Given the description of an element on the screen output the (x, y) to click on. 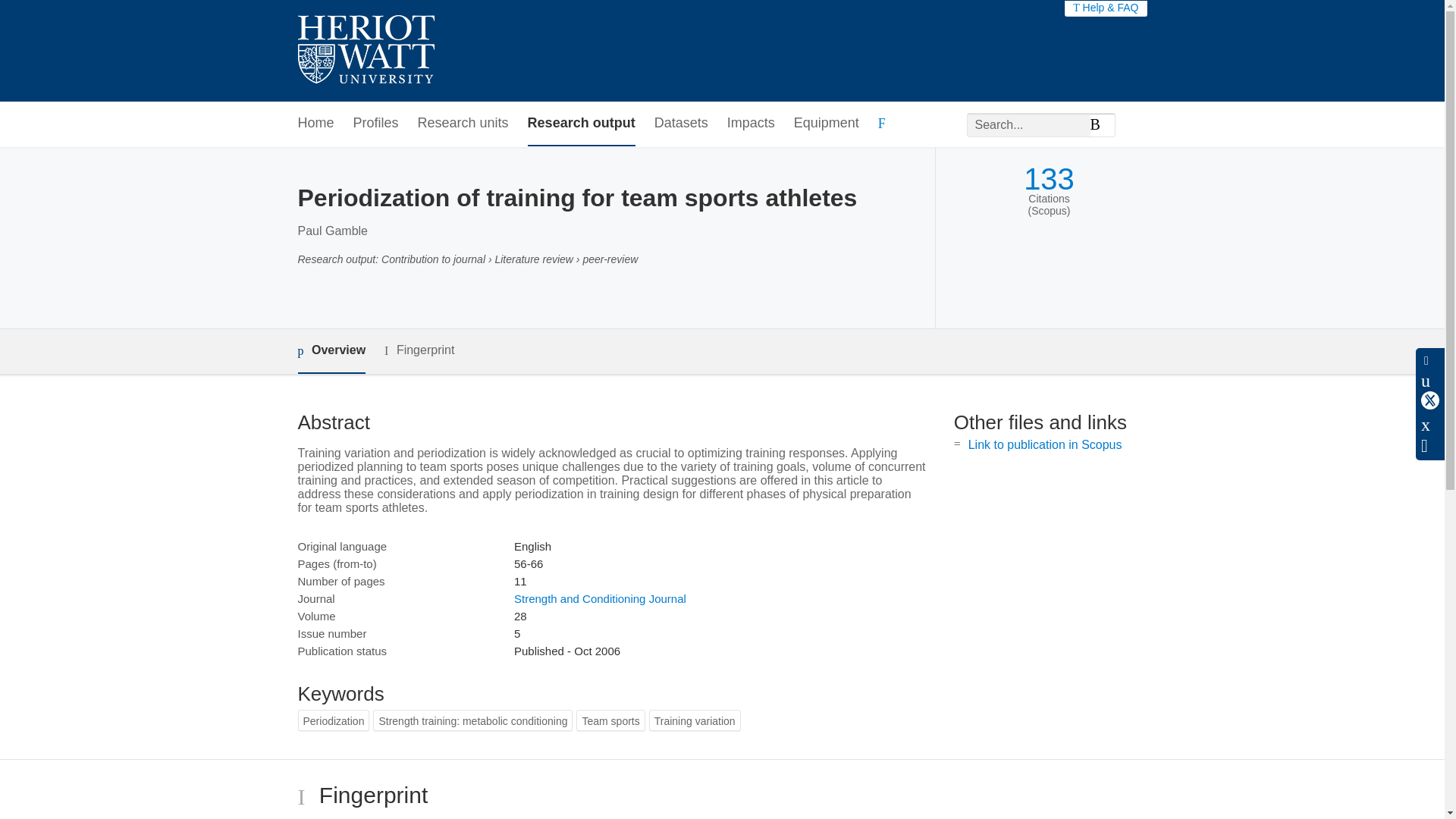
Link to publication in Scopus (1045, 444)
Fingerprint (419, 350)
Datasets (680, 123)
Strength and Conditioning Journal (599, 598)
Research output (580, 123)
Equipment (826, 123)
Overview (331, 351)
Profiles (375, 123)
Impacts (750, 123)
